Given the description of an element on the screen output the (x, y) to click on. 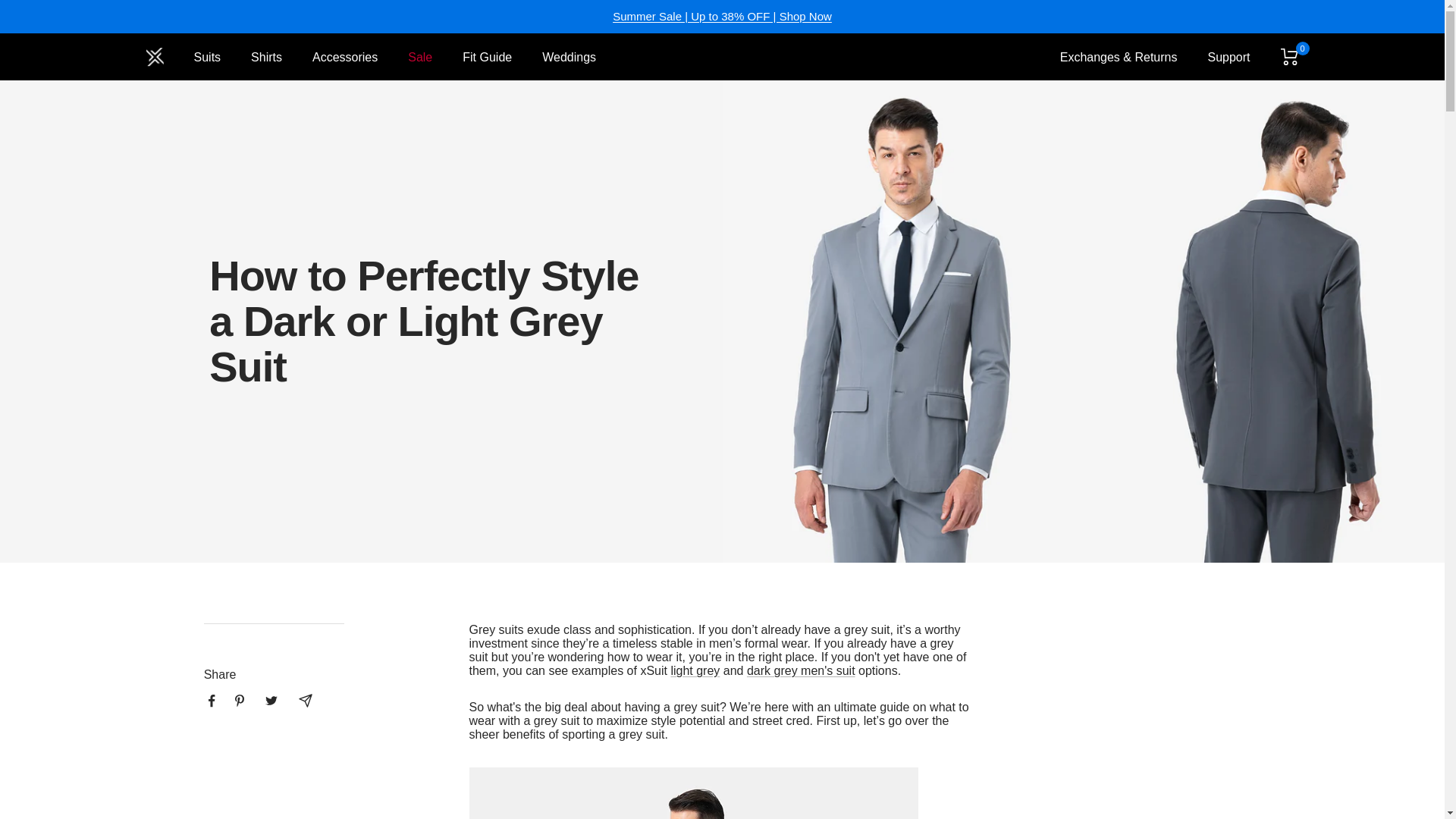
Accessories (345, 56)
Weddings (568, 56)
Suits (207, 56)
light grey (694, 670)
0 (1288, 56)
Dark Grey Suit (801, 670)
Fit Guide (487, 56)
Sale (419, 56)
Shirts (266, 56)
dark grey men's suit (801, 670)
Light Grey Suit (694, 670)
xSuit (154, 56)
Support (1228, 56)
